Given the description of an element on the screen output the (x, y) to click on. 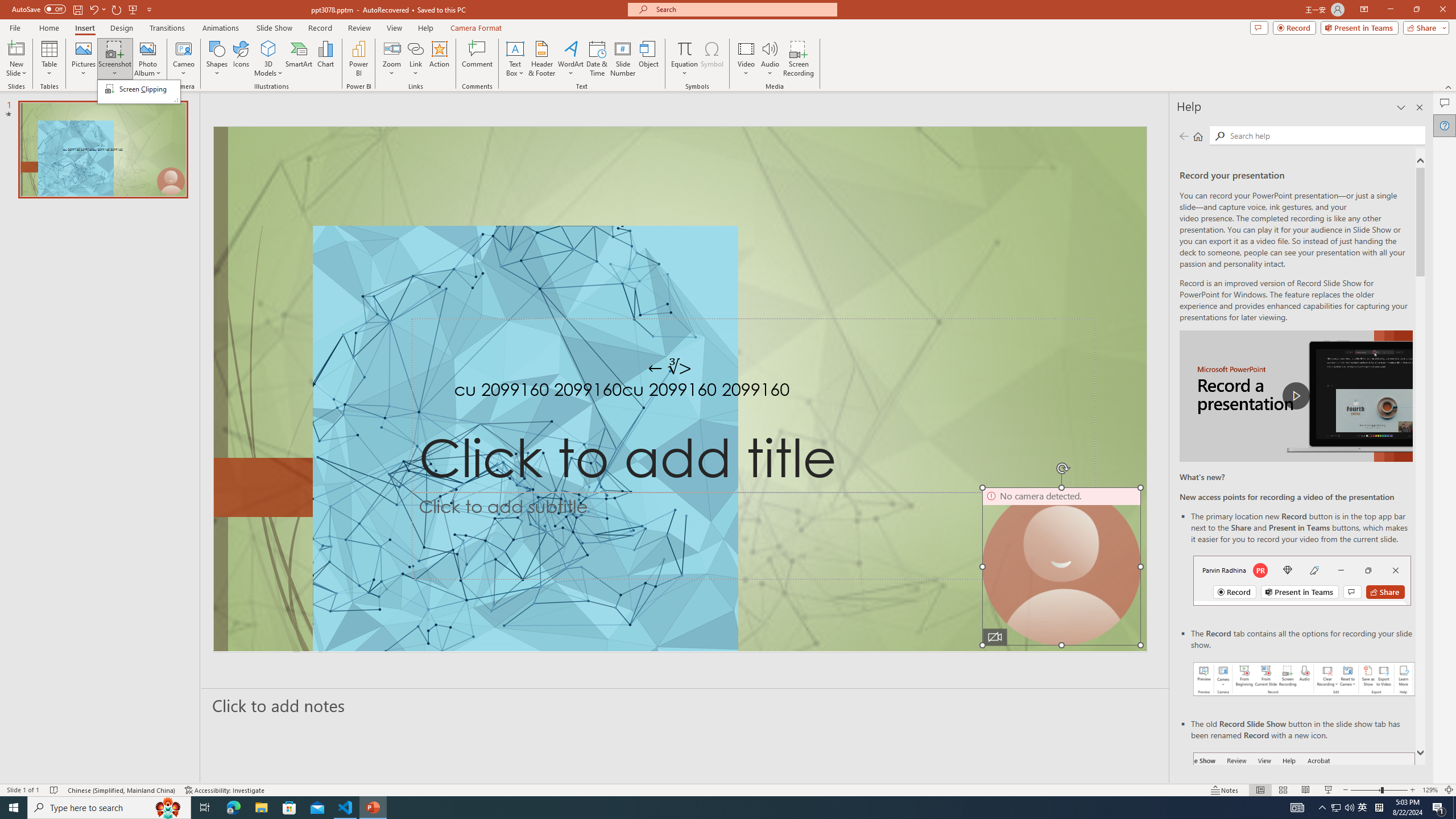
TextBox 61 (678, 391)
Draw Horizontal Text Box (515, 48)
Camera Format (475, 28)
